Given the description of an element on the screen output the (x, y) to click on. 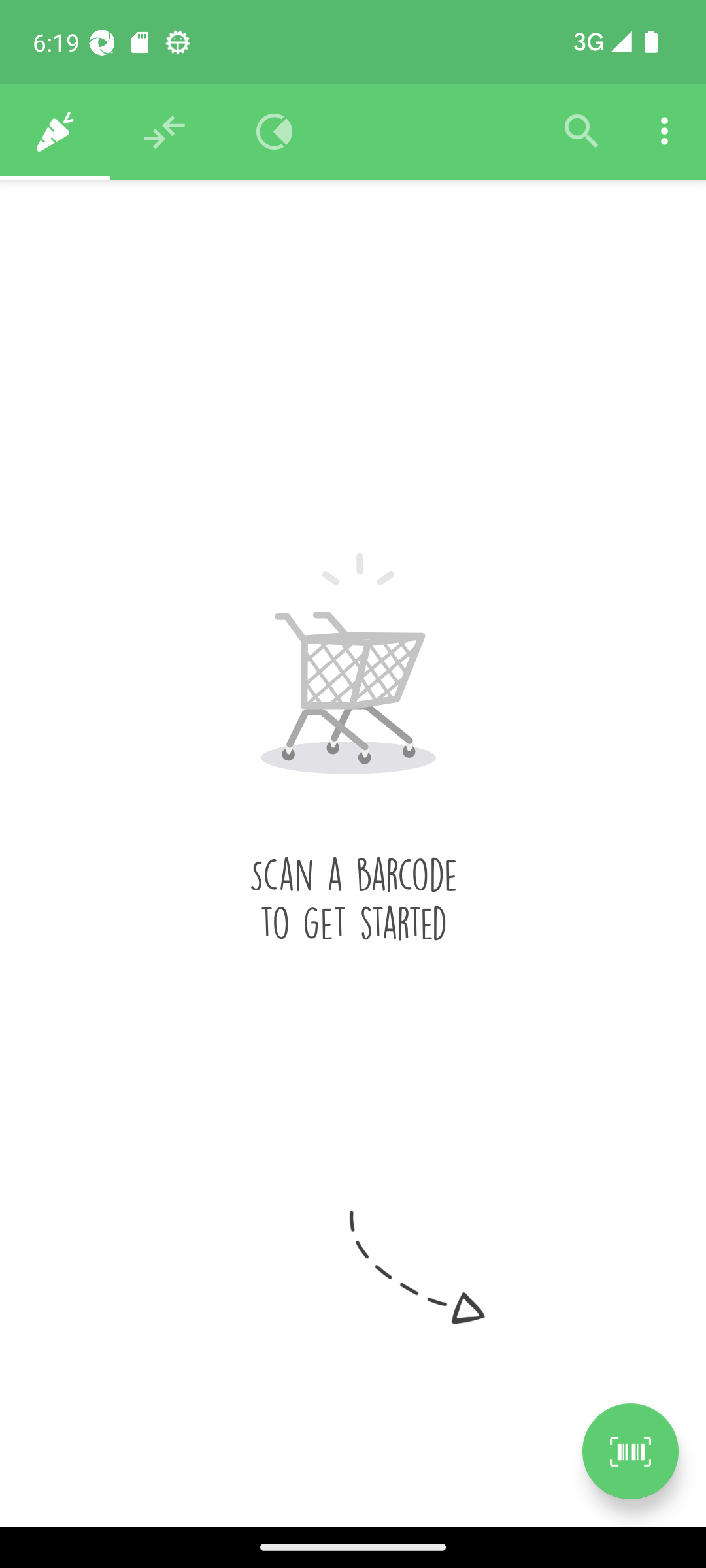
Recommendations (164, 131)
Overview (274, 131)
Filter (581, 131)
Settings (664, 131)
Scan a product (630, 1451)
